Given the description of an element on the screen output the (x, y) to click on. 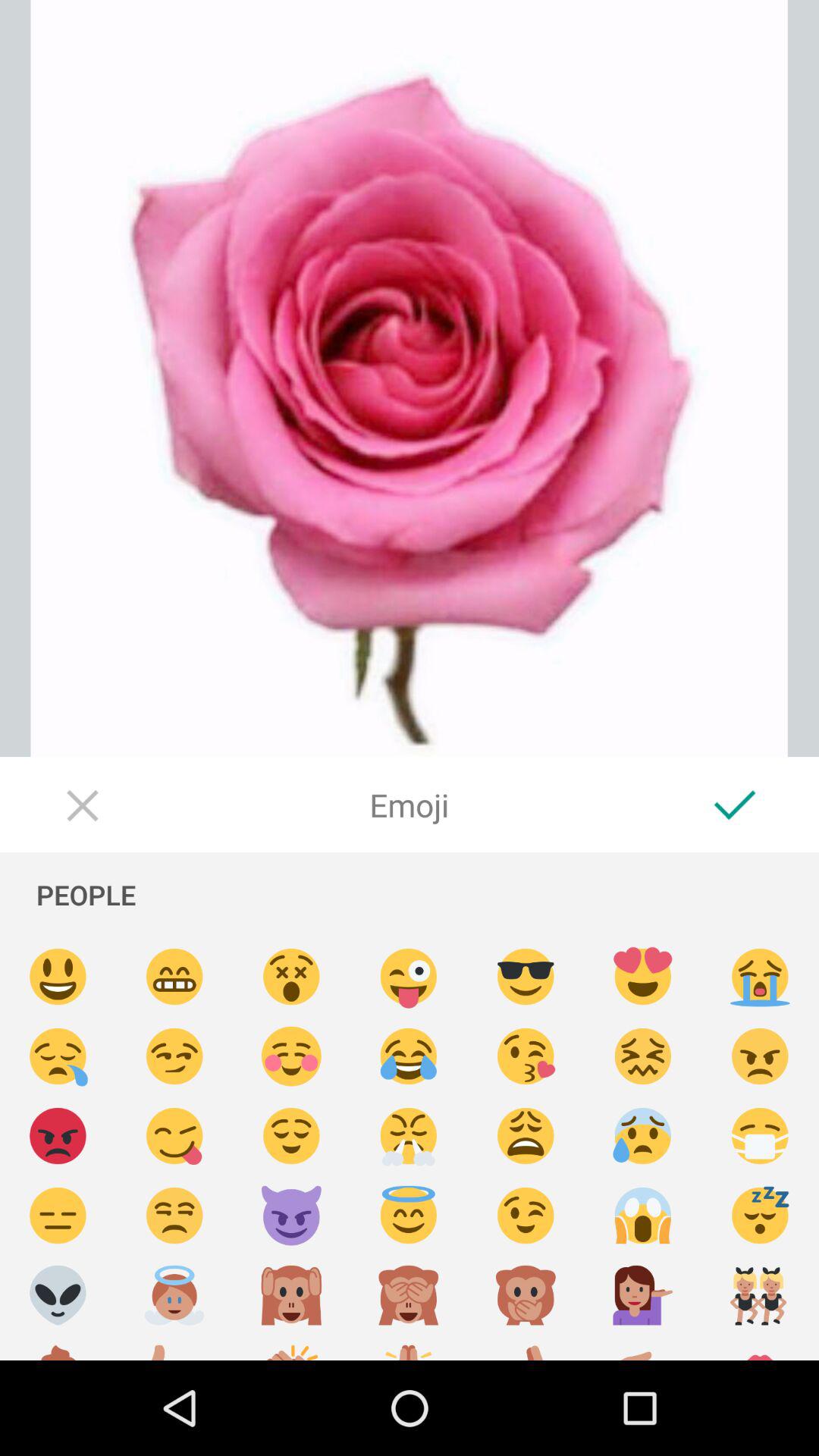
toggle no speak money emoji (525, 1295)
